Given the description of an element on the screen output the (x, y) to click on. 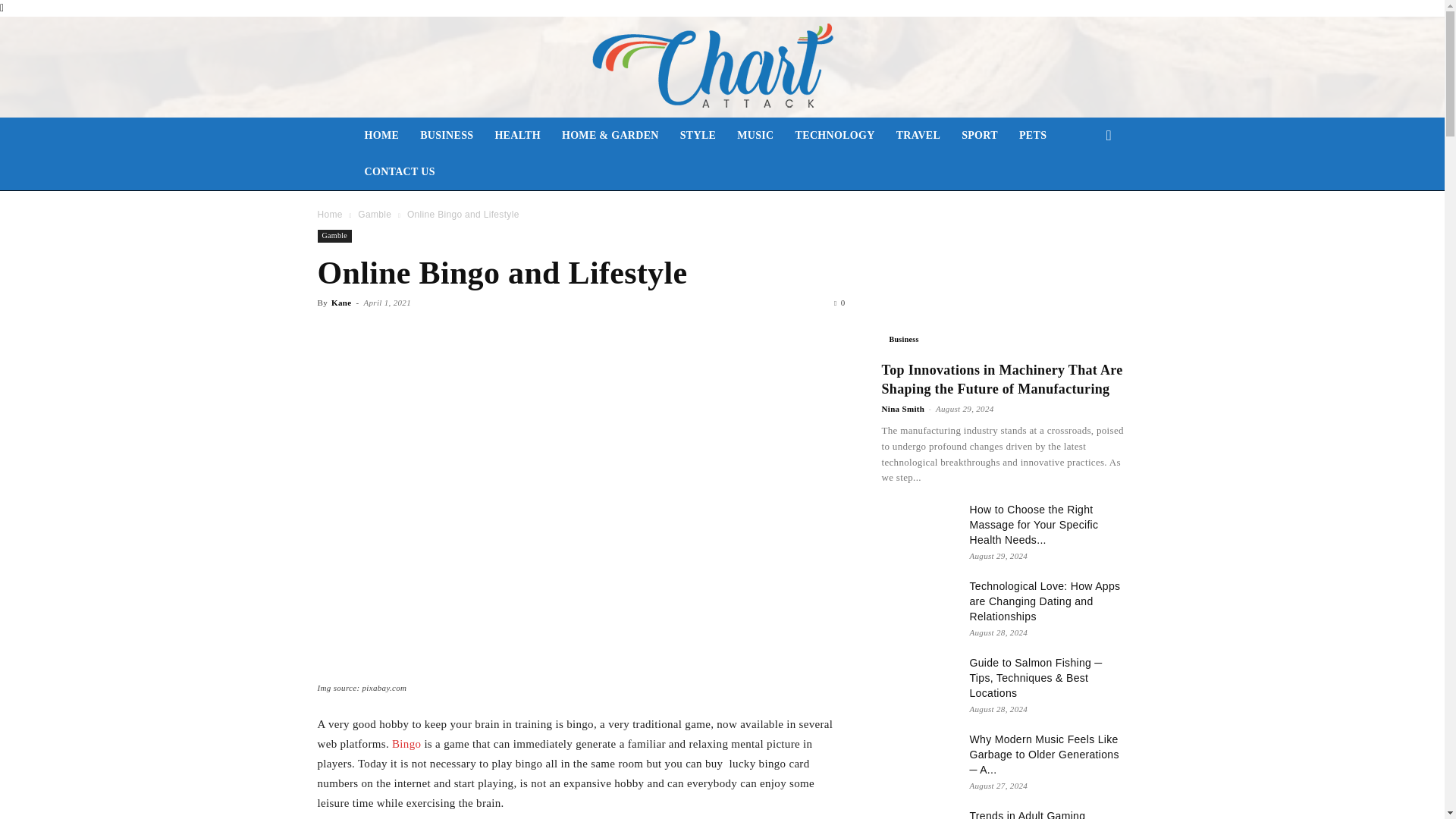
Gamble (374, 214)
View all posts in Gamble (374, 214)
0 (839, 302)
Search (1085, 196)
STYLE (697, 135)
TECHNOLOGY (834, 135)
MUSIC (755, 135)
CONTACT US (399, 171)
BUSINESS (446, 135)
HOME (381, 135)
